Given the description of an element on the screen output the (x, y) to click on. 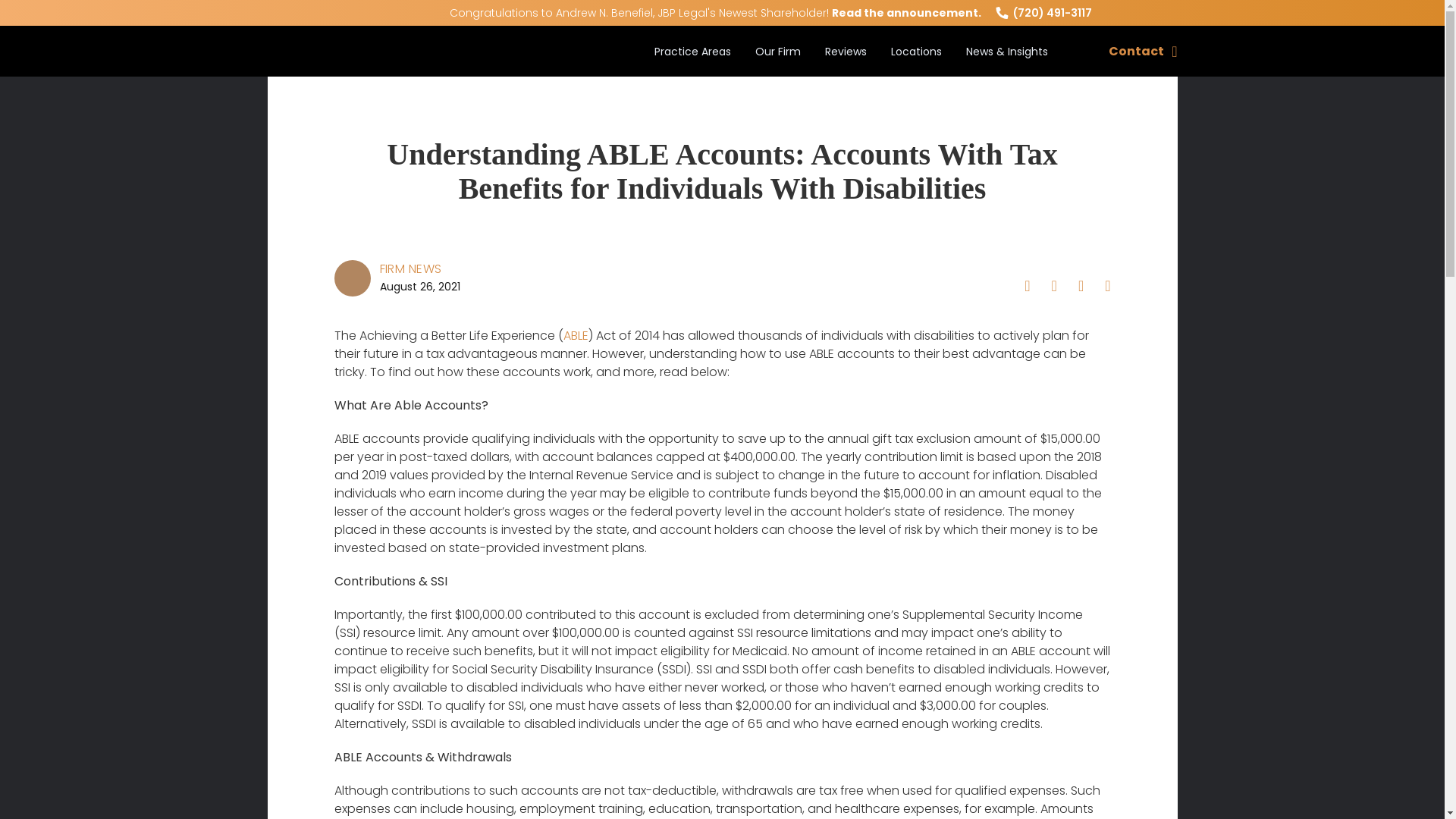
ABLE (575, 334)
Practice Areas (691, 63)
Locations (916, 63)
Our Firm (777, 63)
Read the announcement. (905, 12)
Reviews (845, 63)
Contact (1142, 51)
